Given the description of an element on the screen output the (x, y) to click on. 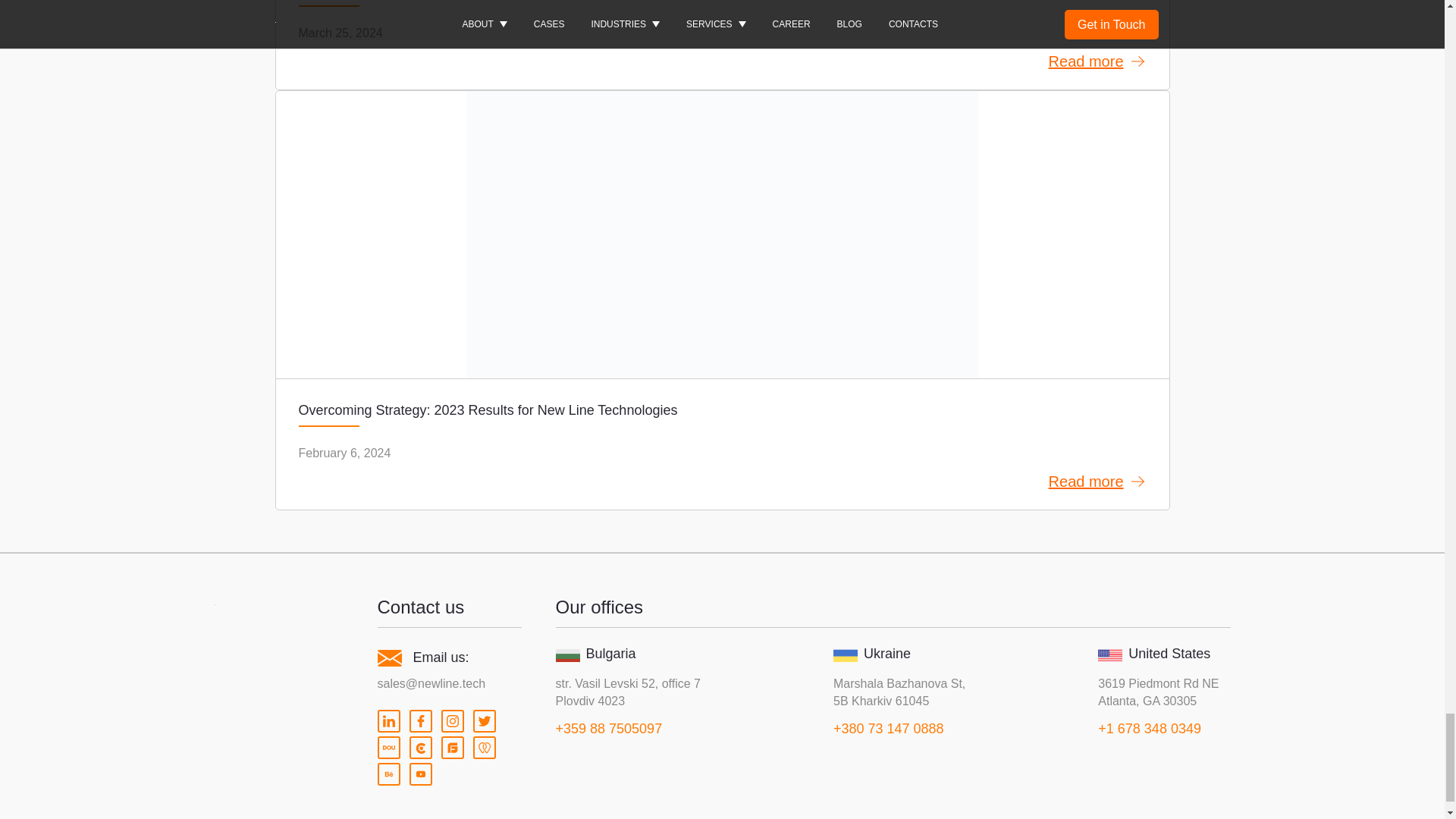
Facebook (420, 721)
LinkedIn (388, 721)
Instagram (452, 721)
Twitter (484, 721)
